Given the description of an element on the screen output the (x, y) to click on. 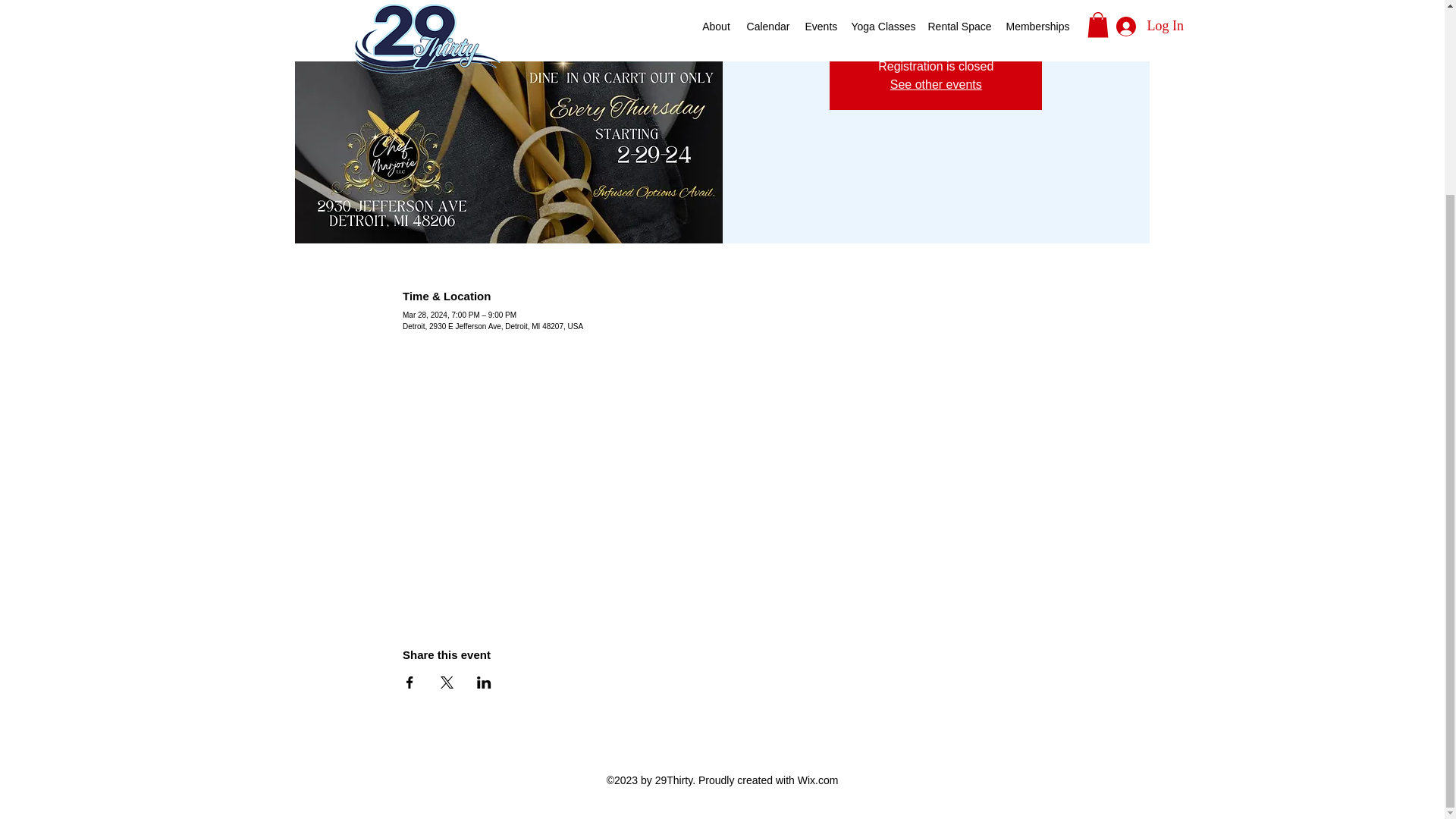
See other events (935, 83)
